Given the description of an element on the screen output the (x, y) to click on. 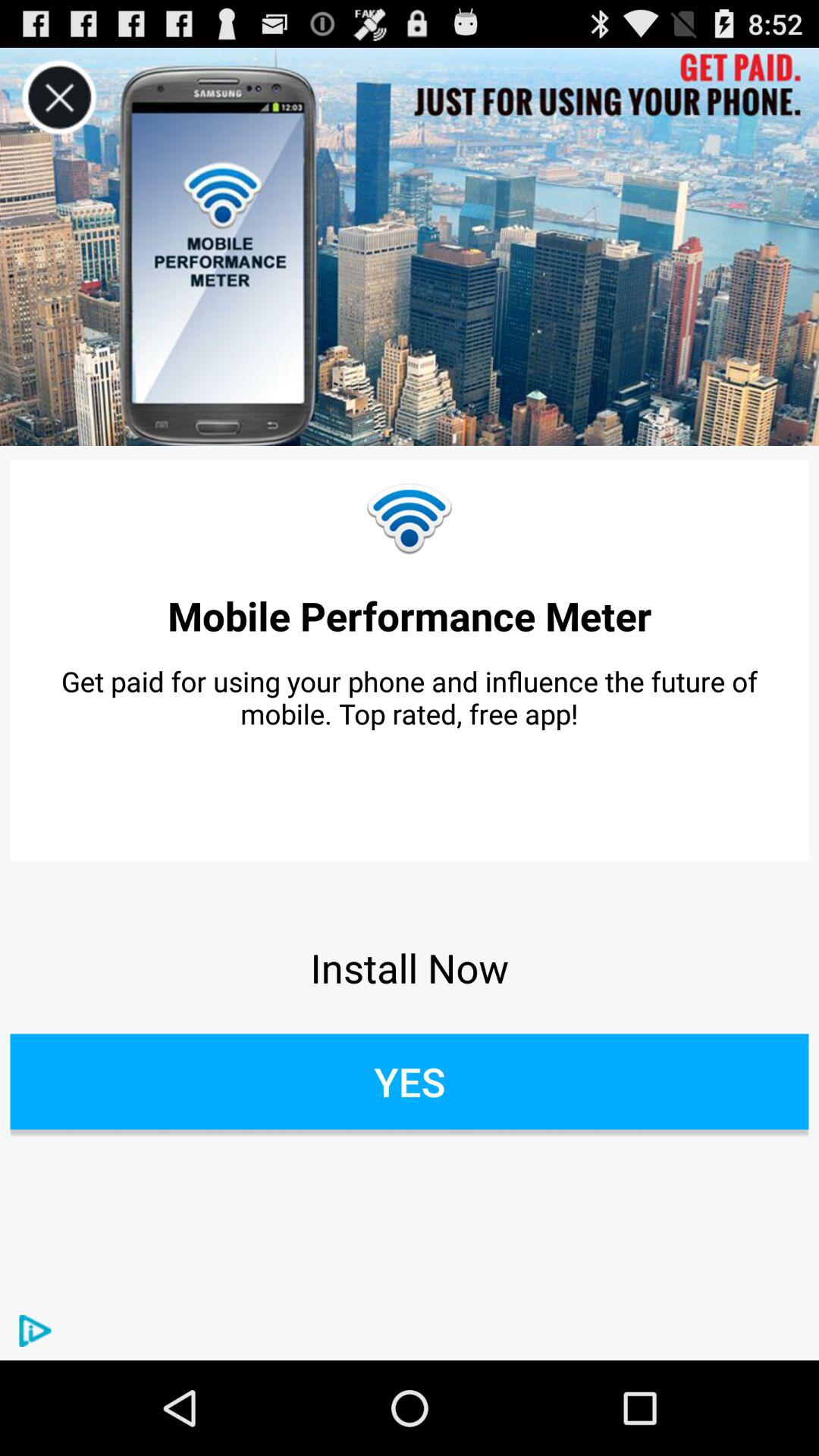
open the icon above get paid for item (409, 615)
